Given the description of an element on the screen output the (x, y) to click on. 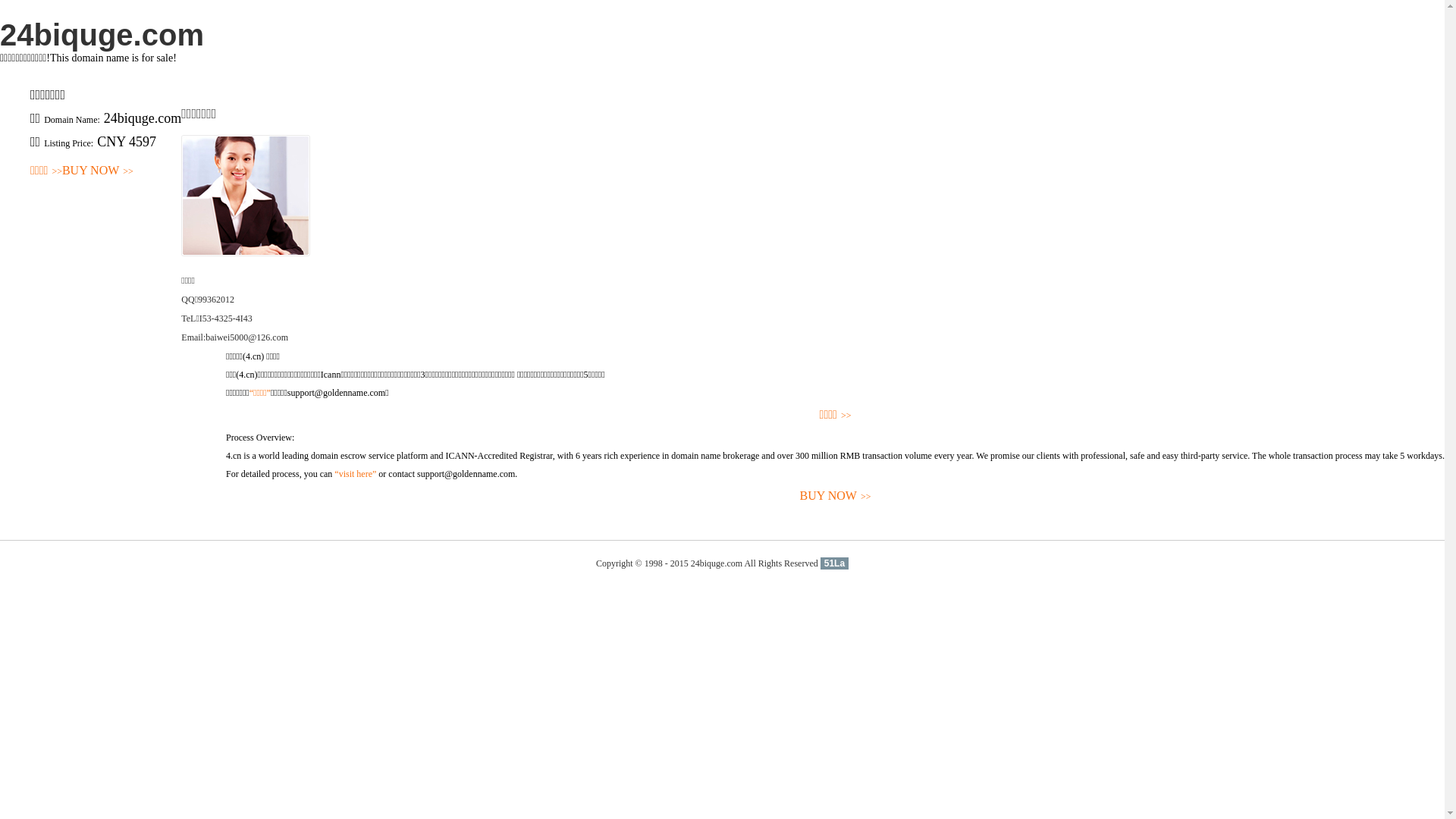
BUY NOW>> Element type: text (97, 170)
51La Element type: text (834, 563)
BUY NOW>> Element type: text (834, 496)
